Given the description of an element on the screen output the (x, y) to click on. 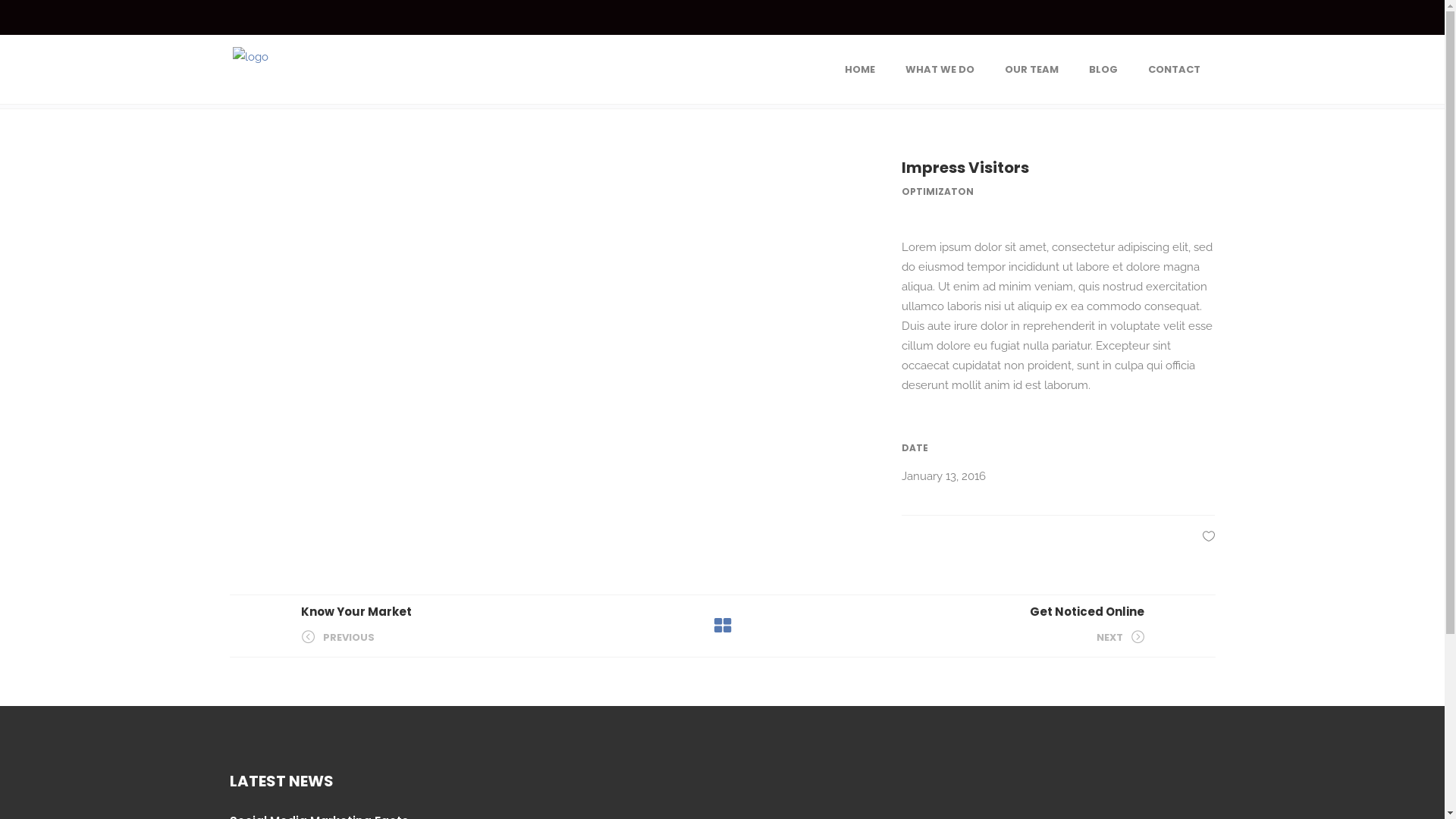
HOME Element type: text (859, 68)
OUR TEAM Element type: text (1030, 68)
BLOG Element type: text (1102, 68)
NEXT Element type: text (1120, 637)
PREVIOUS Element type: text (336, 637)
WHAT WE DO Element type: text (939, 68)
CONTACT Element type: text (1173, 68)
Get Noticed Online Element type: text (1086, 611)
Know Your Market Element type: text (355, 611)
Like this Element type: hover (1208, 535)
